Given the description of an element on the screen output the (x, y) to click on. 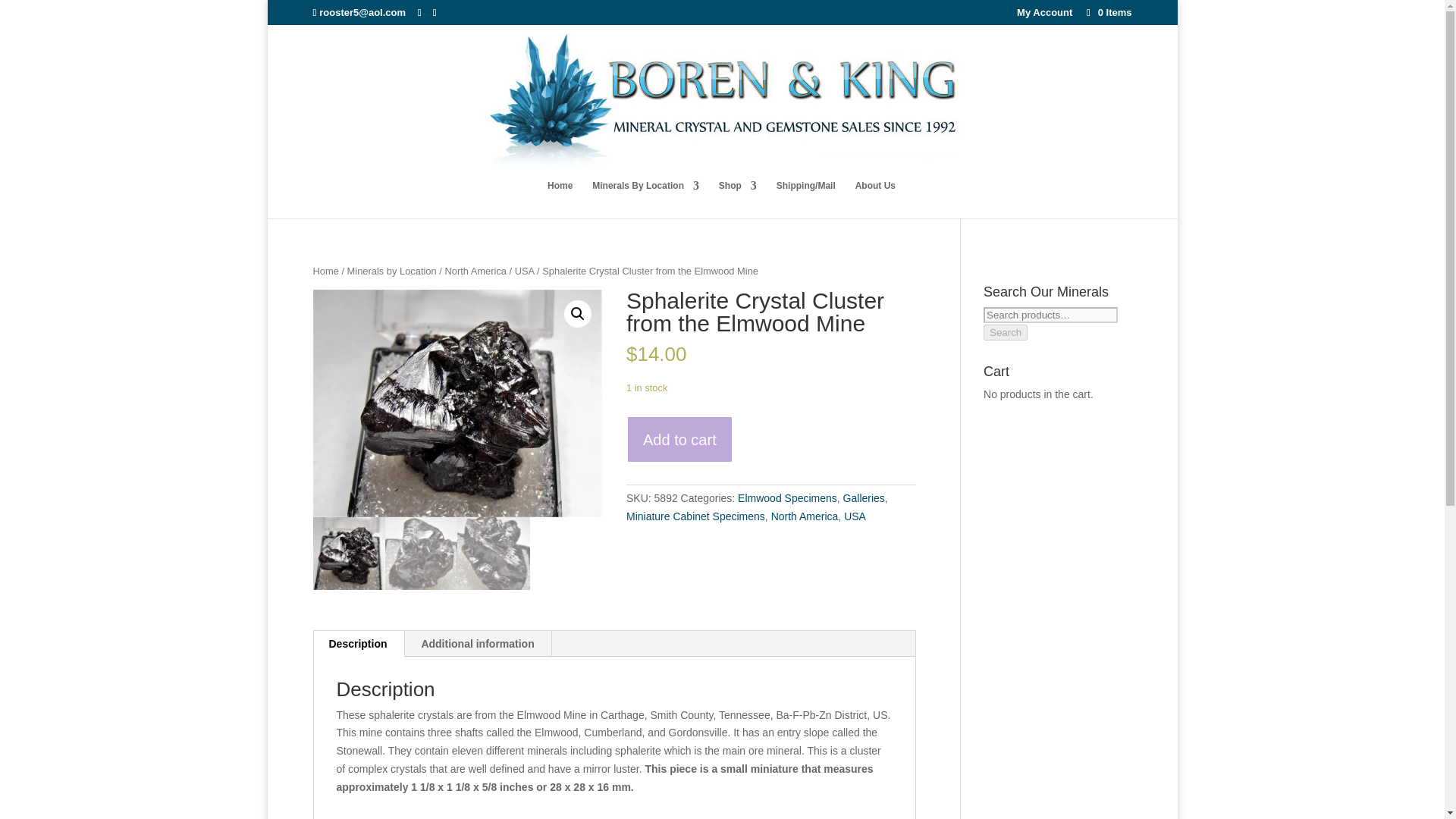
Home (559, 199)
0 Items (1107, 12)
My Account (1043, 16)
Minerals By Location (645, 199)
Sphalerite Crystal Cluster from the Elmwood Mine (457, 402)
